Given the description of an element on the screen output the (x, y) to click on. 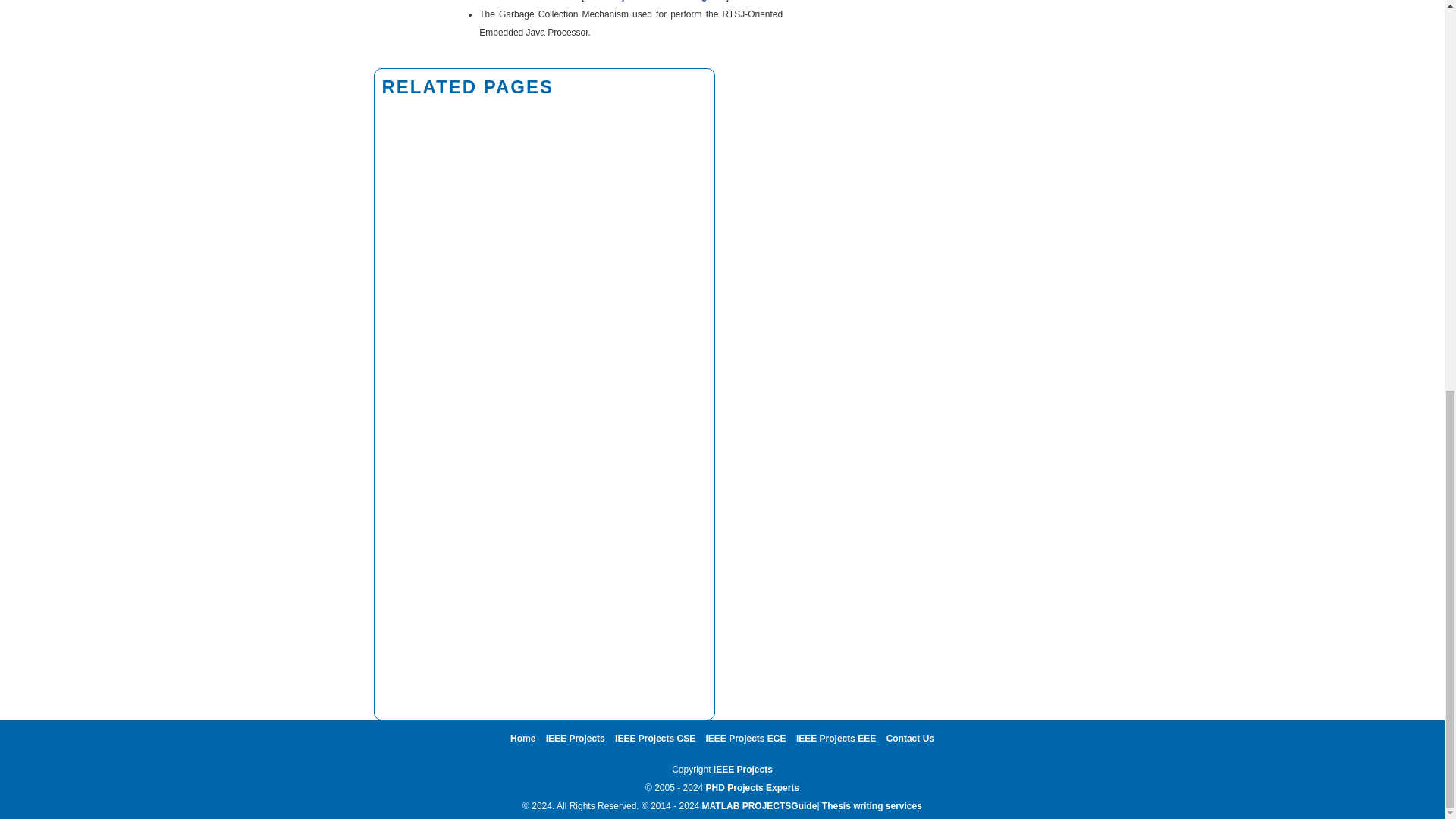
Home (523, 738)
Java Projects in United Kingdom (654, 0)
